Given the description of an element on the screen output the (x, y) to click on. 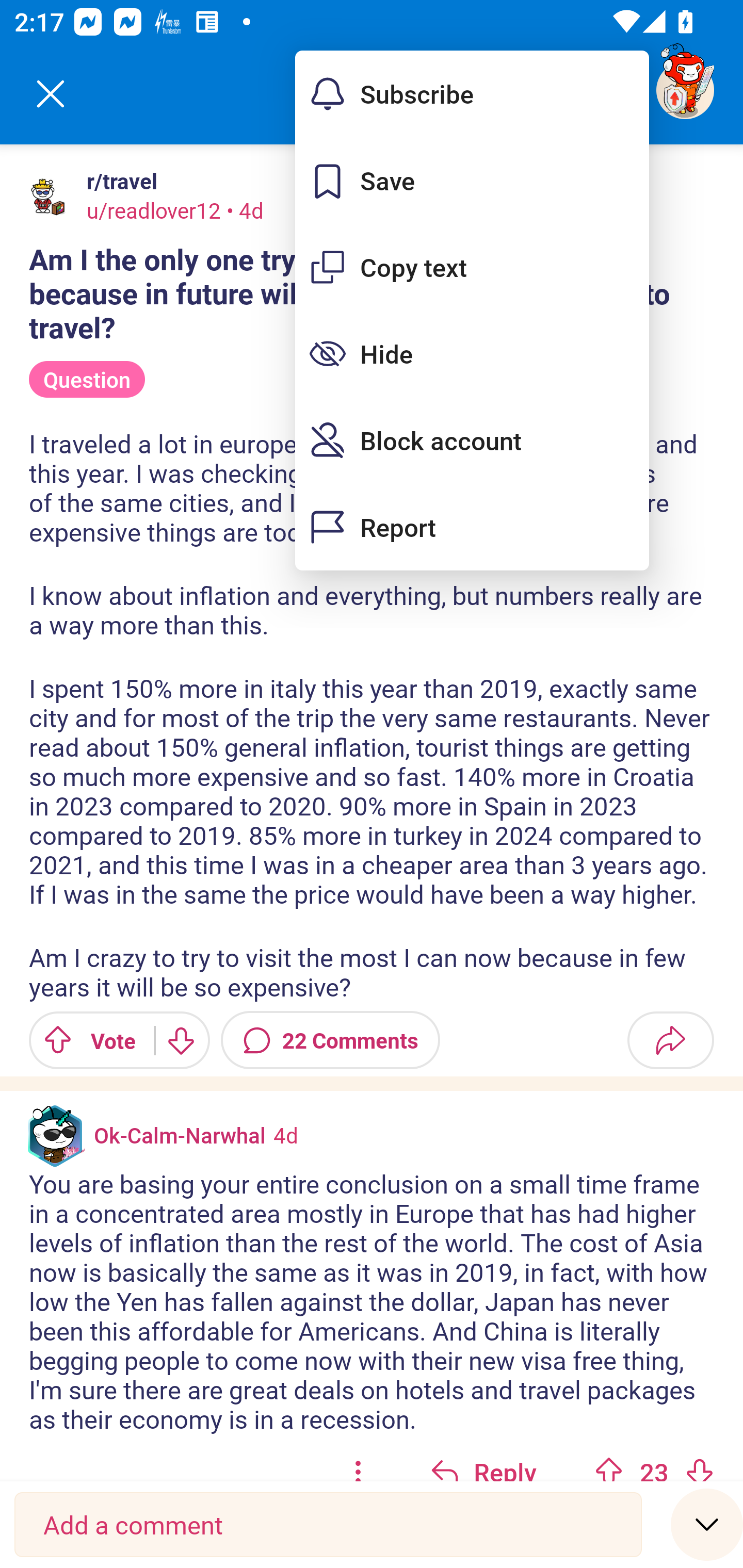
Subscribe (471, 93)
Save (471, 180)
Copy text (471, 267)
Hide (471, 353)
Block account (471, 440)
Report (471, 527)
